Given the description of an element on the screen output the (x, y) to click on. 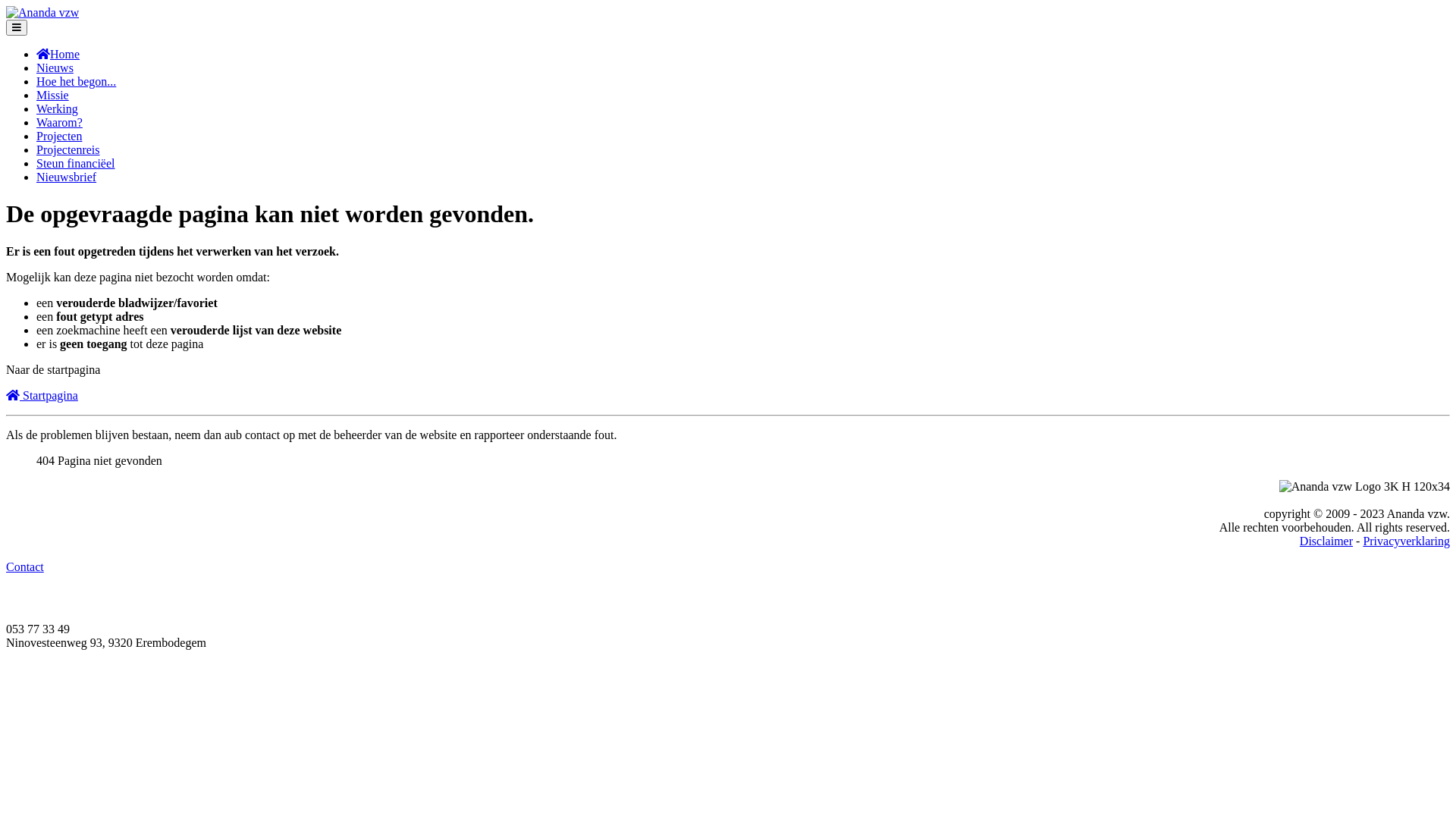
Nieuwsbrief Element type: text (66, 176)
Projectenreis Element type: text (68, 149)
Waarom? Element type: text (59, 122)
Nieuws Element type: text (54, 67)
Home Element type: text (57, 53)
Contact Element type: text (24, 566)
Werking Element type: text (57, 108)
Disclaimer Element type: text (1325, 540)
Missie Element type: text (52, 94)
Privacyverklaring Element type: text (1405, 540)
Hoe het begon... Element type: text (76, 81)
Startpagina Element type: text (42, 395)
Projecten Element type: text (58, 135)
